Given the description of an element on the screen output the (x, y) to click on. 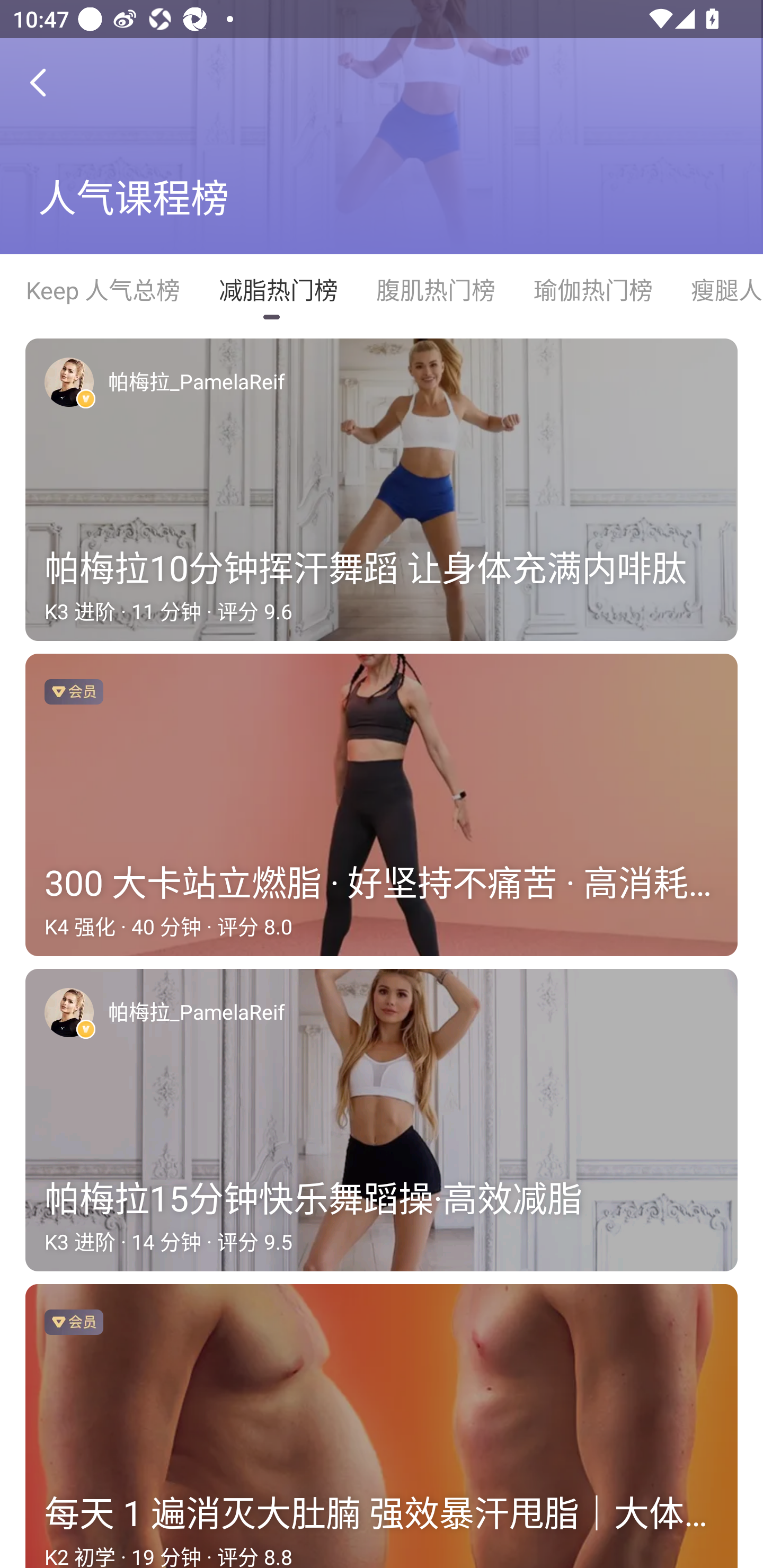
Left Button In Title Bar (50, 82)
Keep 人气总榜 (102, 290)
减脂热门榜 (277, 290)
腹肌热门榜 (435, 290)
瑜伽热门榜 (592, 290)
瘦腿人气榜 (717, 290)
每天 1 遍消灭大肚腩 强效暴汗甩脂｜大体重专属 K2 初学 · 19 分钟 · 评分 8.8 (381, 1426)
